Given the description of an element on the screen output the (x, y) to click on. 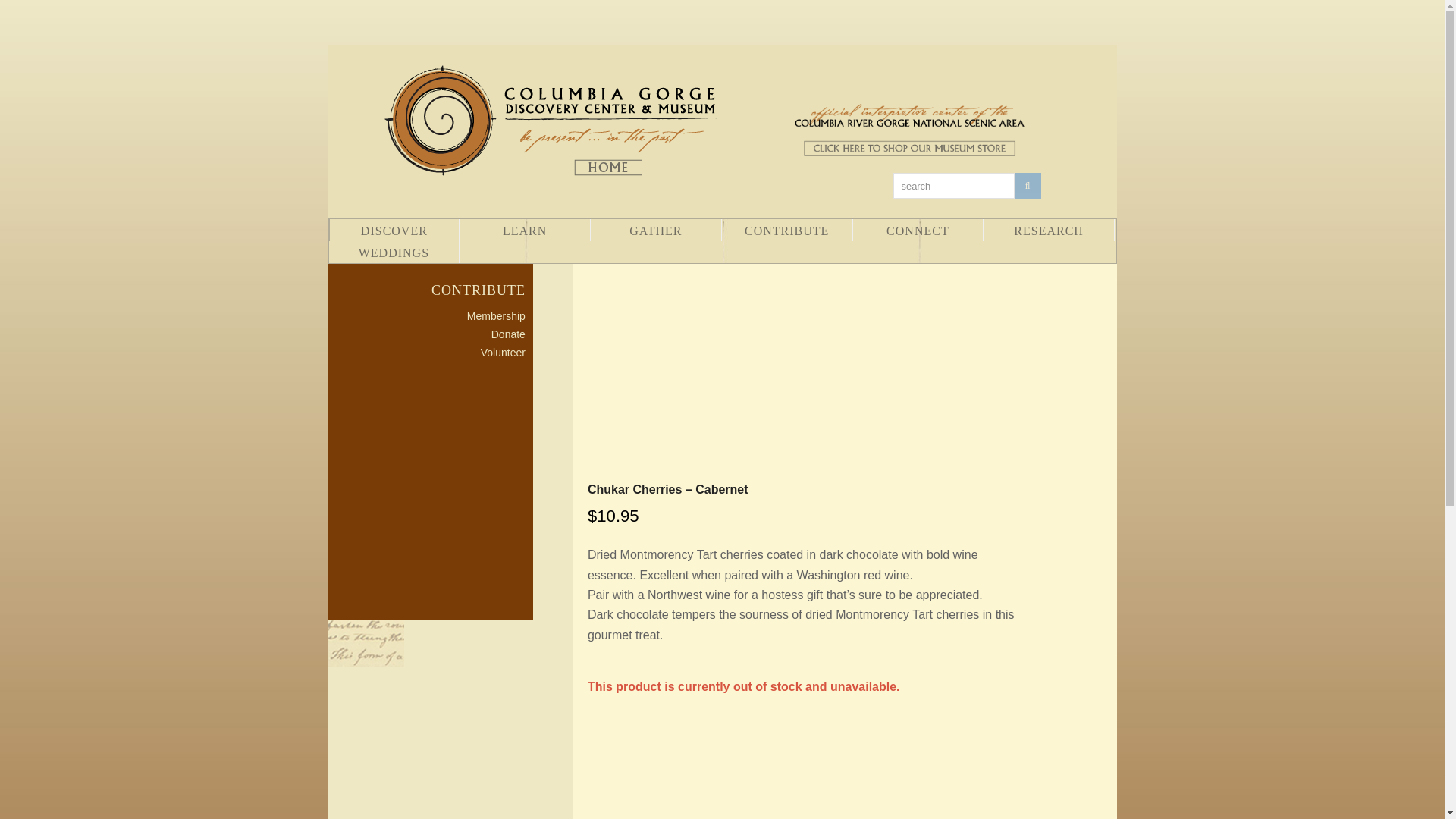
LEARN (524, 229)
Research and History collections (1048, 229)
GATHER (655, 229)
Educator Resources (524, 229)
Search (1027, 185)
DISCOVER (393, 229)
